Given the description of an element on the screen output the (x, y) to click on. 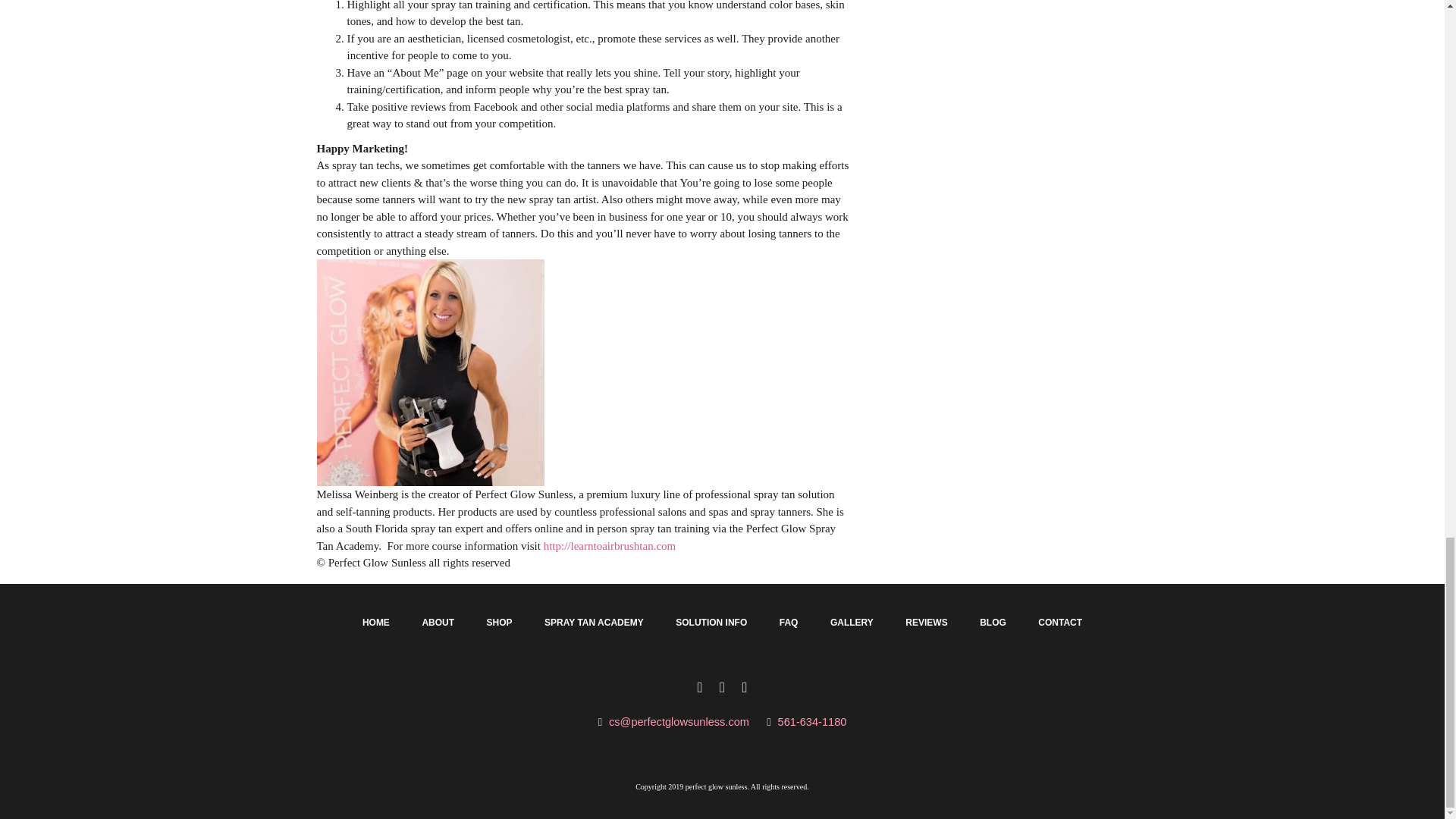
FAQ (788, 622)
SOLUTION INFO (711, 622)
SPRAY TAN ACADEMY (594, 622)
SHOP (499, 622)
HOME (375, 622)
ABOUT (437, 622)
